Given the description of an element on the screen output the (x, y) to click on. 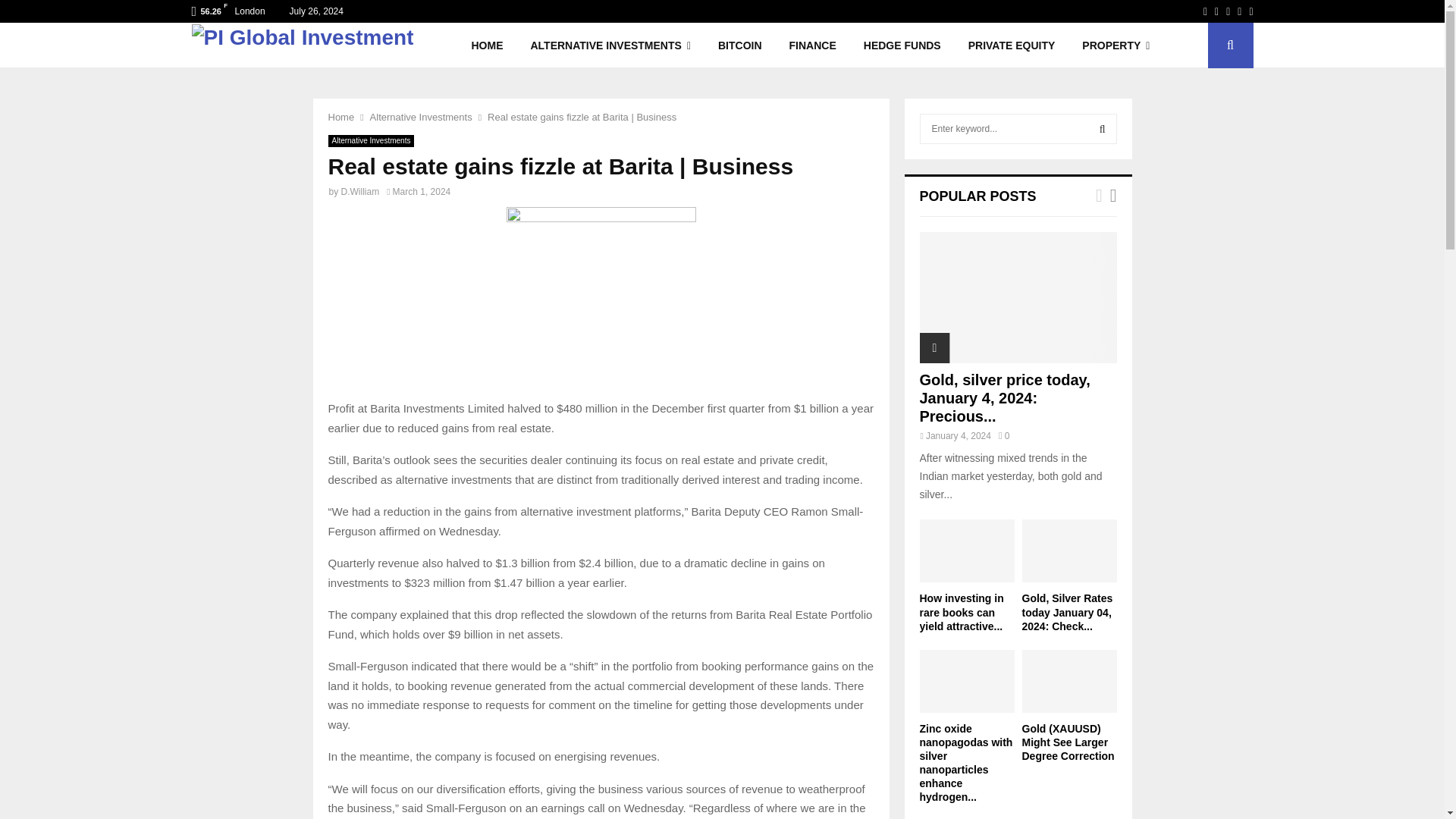
PRIVATE EQUITY (1011, 44)
Youtube (1250, 11)
Instagram (1227, 11)
Home (340, 116)
ALTERNATIVE INVESTMENTS (610, 44)
PROPERTY (1115, 44)
Alternative Investments (370, 141)
Facebook (1205, 11)
Pinterest (1239, 11)
Pinterest (1239, 11)
Alternative Investments (420, 116)
Instagram (1227, 11)
Youtube (1250, 11)
HEDGE FUNDS (902, 44)
BITCOIN (740, 44)
